Given the description of an element on the screen output the (x, y) to click on. 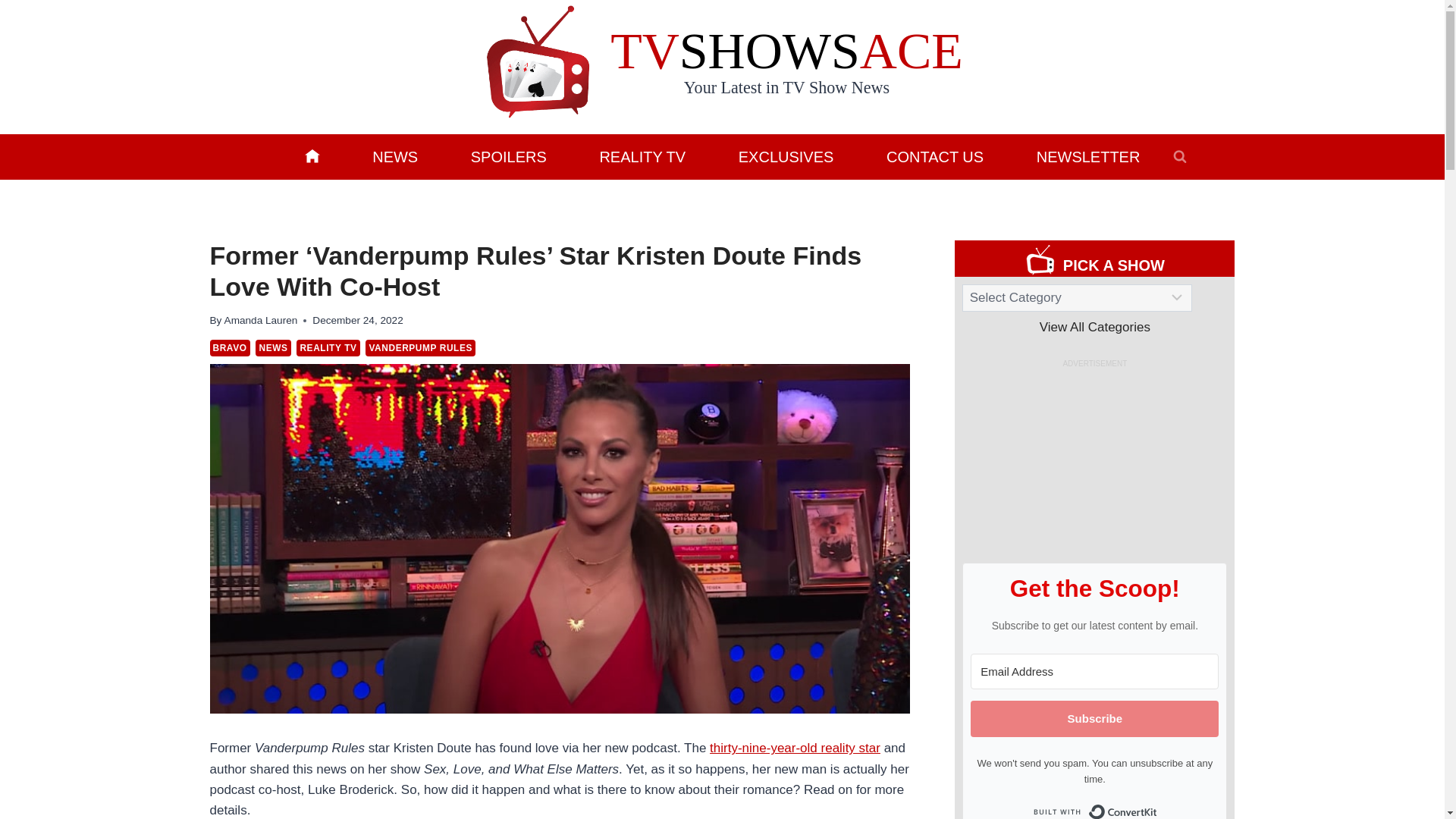
NEWS (272, 347)
thirty-nine-year-old reality star (795, 748)
Amanda Lauren (261, 319)
NEWS (395, 156)
VANDERPUMP RULES (420, 347)
REALITY TV (642, 156)
CONTACT US (935, 156)
NEWSLETTER (1088, 156)
SPOILERS (508, 156)
EXCLUSIVES (785, 156)
REALITY TV (328, 347)
BRAVO (228, 347)
